Given the description of an element on the screen output the (x, y) to click on. 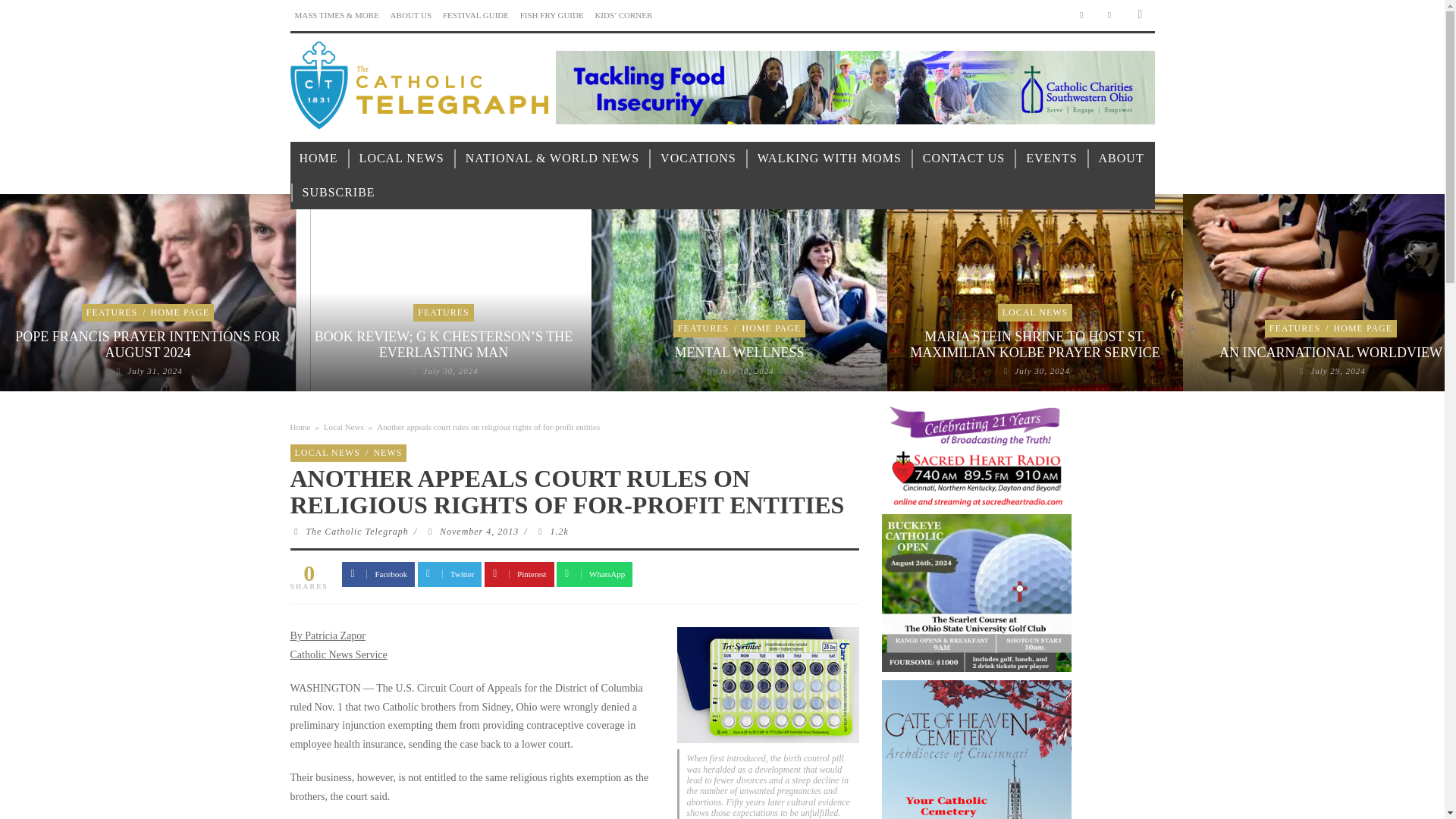
FESTIVAL GUIDE (475, 15)
HOME (317, 158)
Permalink to Pope Francis Prayer Intentions for August 2024 (146, 345)
Walking with Moms (829, 158)
EVENTS (1051, 158)
Permalink to Pope Francis Prayer Intentions for August 2024 (155, 370)
WALKING WITH MOMS (829, 158)
View all posts in Home Page (180, 312)
CONTACT US (963, 158)
ABOUT US (410, 15)
